Given the description of an element on the screen output the (x, y) to click on. 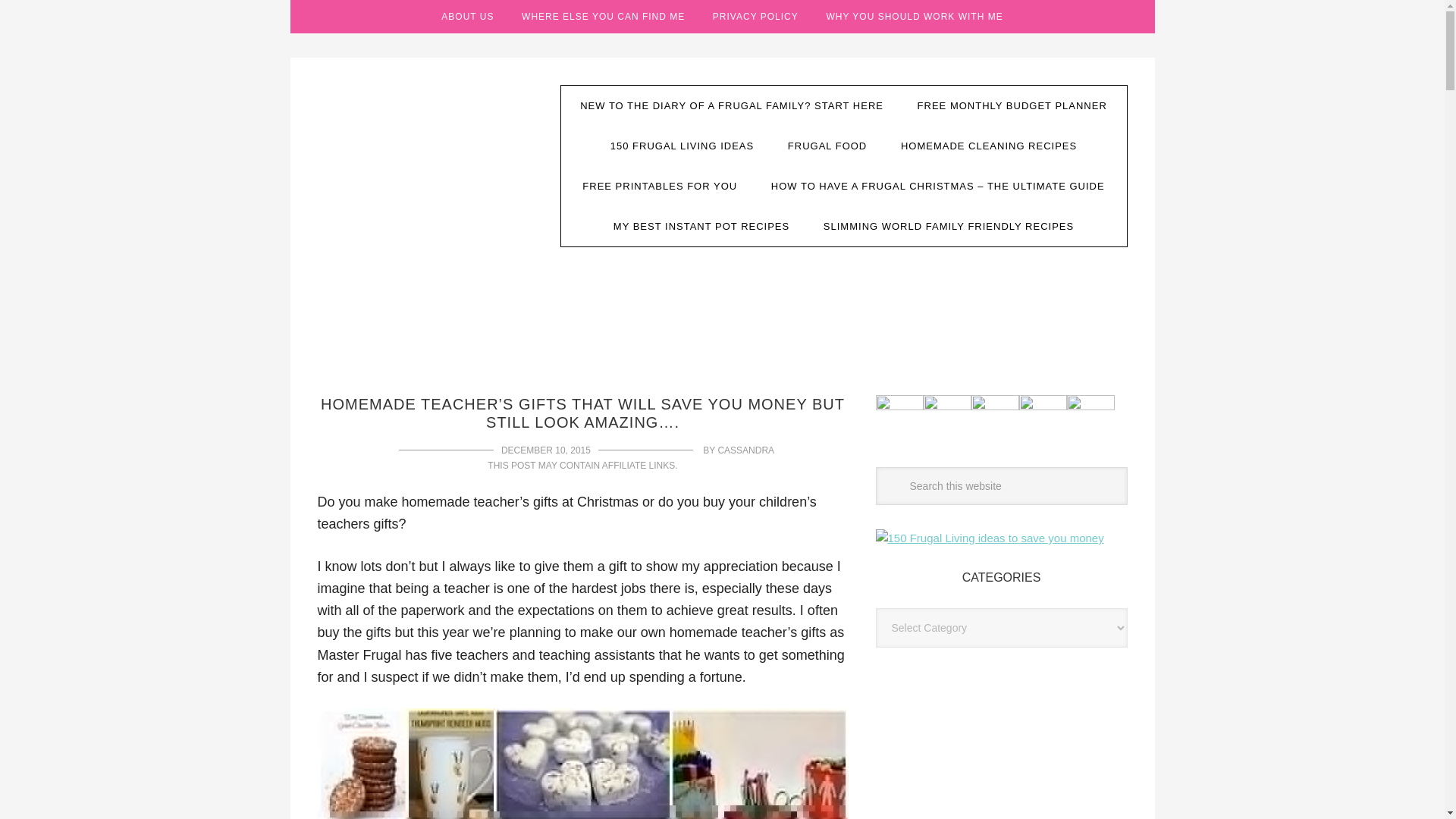
MY BEST INSTANT POT RECIPES (701, 226)
THE DIARY OF A FRUGAL FAMILY (427, 198)
150 FRUGAL LIVING IDEAS (681, 146)
PRIVACY POLICY (755, 16)
NEW TO THE DIARY OF A FRUGAL FAMILY? START HERE (731, 105)
FREE PRINTABLES FOR YOU (659, 186)
WHY YOU SHOULD WORK WITH ME (913, 16)
HOMEMADE CLEANING RECIPES (988, 146)
SLIMMING WORLD FAMILY FRIENDLY RECIPES (948, 226)
ABOUT US (467, 16)
FREE MONTHLY BUDGET PLANNER (1012, 105)
FRUGAL FOOD (827, 146)
WHERE ELSE YOU CAN FIND ME (603, 16)
